Given the description of an element on the screen output the (x, y) to click on. 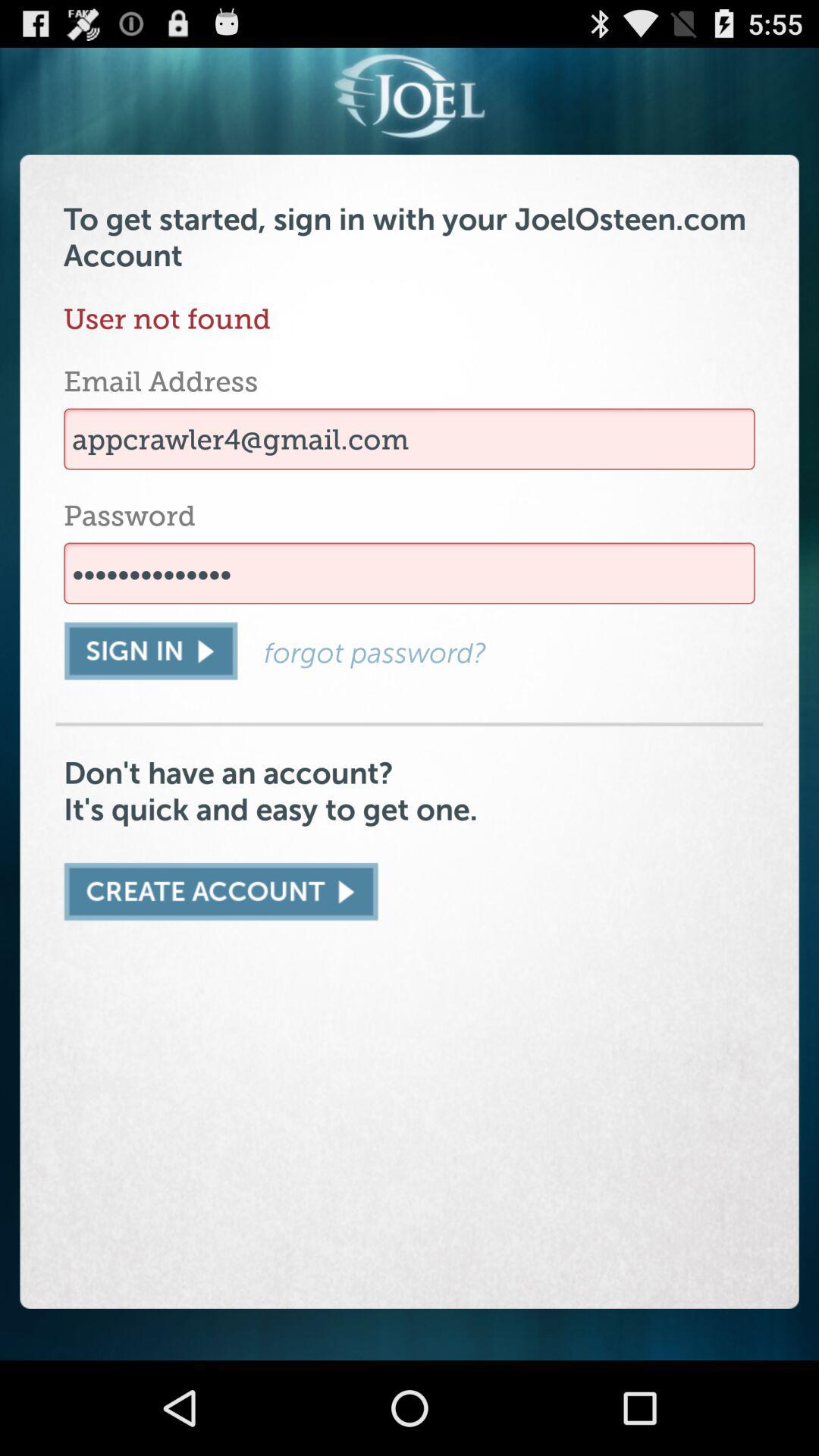
go to next page (220, 891)
